Given the description of an element on the screen output the (x, y) to click on. 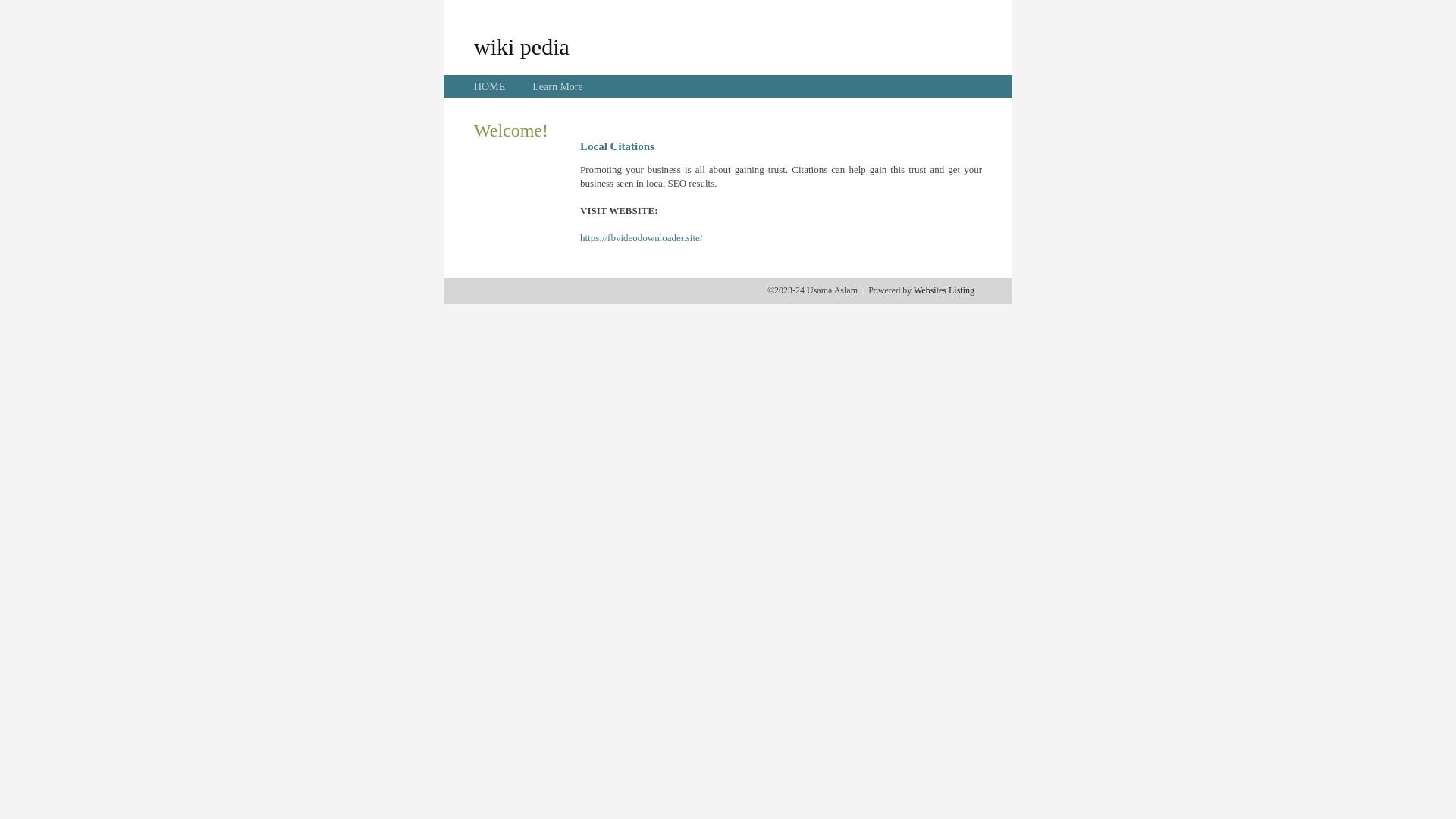
https://fbvideodownloader.site/ Element type: text (641, 237)
Websites Listing Element type: text (943, 290)
wiki pedia Element type: text (521, 46)
HOME Element type: text (489, 86)
Learn More Element type: text (557, 86)
